Given the description of an element on the screen output the (x, y) to click on. 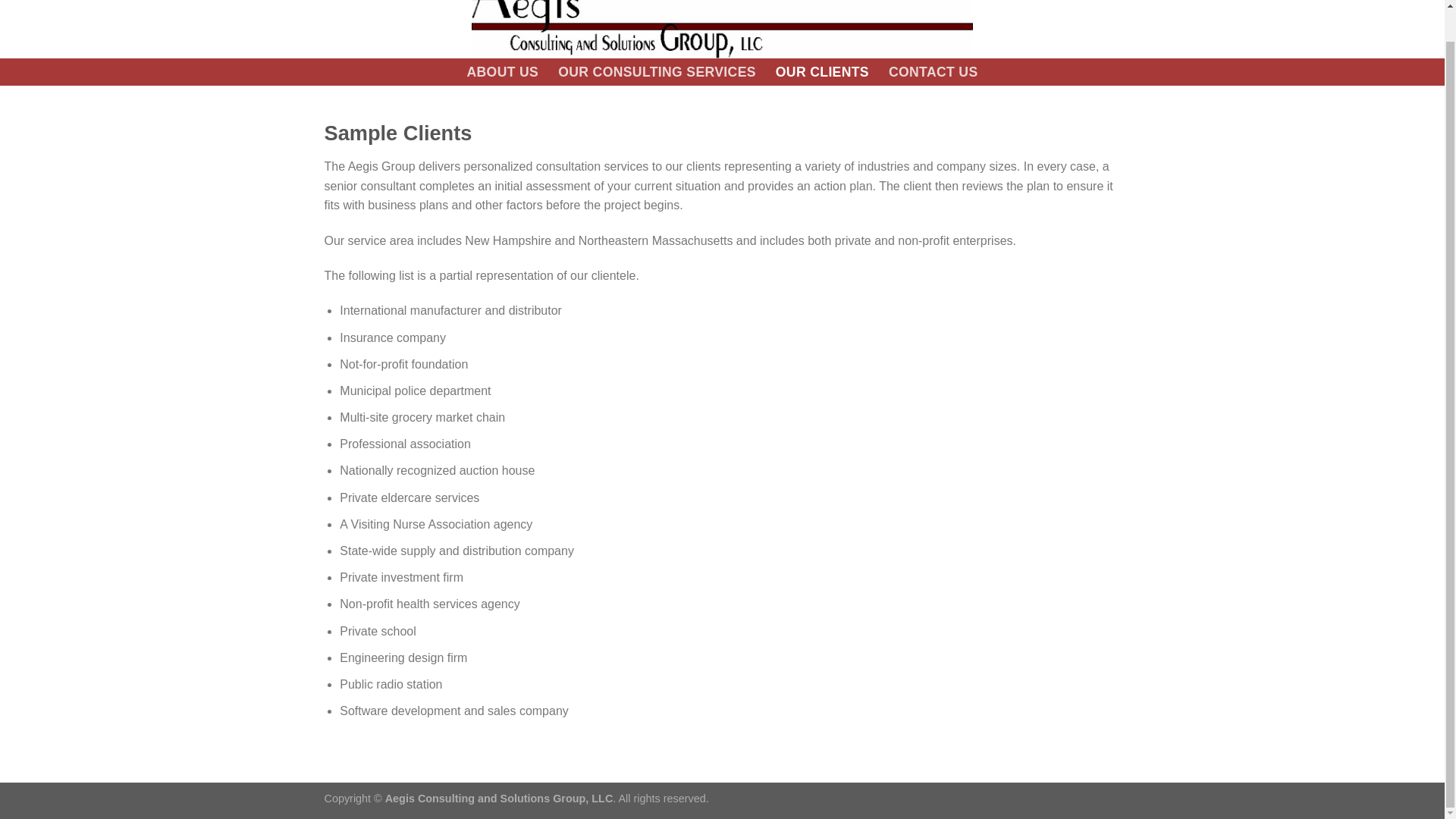
OUR CLIENTS (822, 71)
ABOUT US (501, 71)
OUR CONSULTING SERVICES (656, 71)
CONTACT US (933, 71)
